Given the description of an element on the screen output the (x, y) to click on. 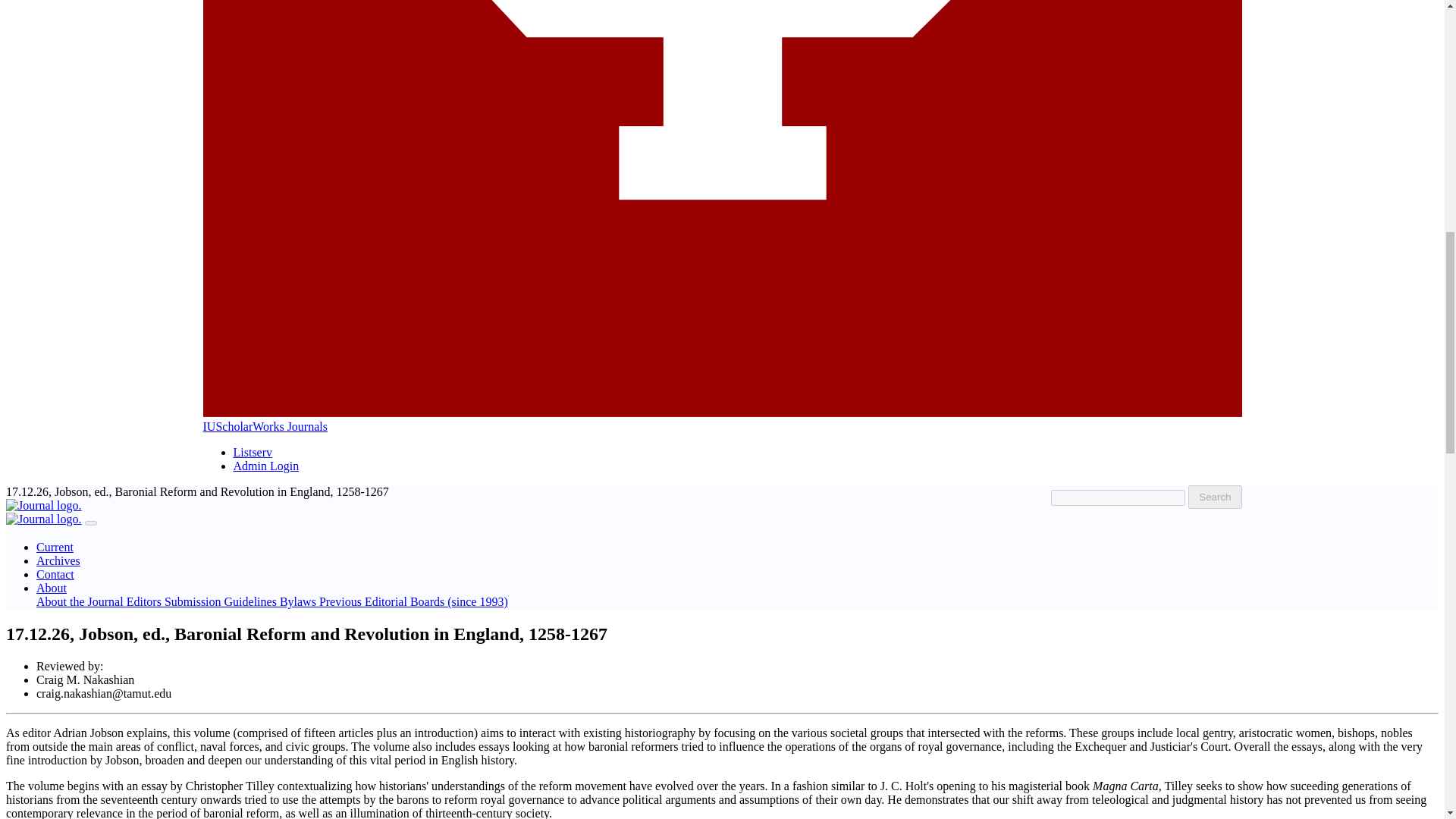
Current (55, 546)
About the Journal (81, 601)
Listserv (252, 451)
Search (1214, 496)
Editors (145, 601)
Contact (55, 574)
Bylaws (298, 601)
Submission Guidelines (221, 601)
IUScholarWorks Journals (265, 426)
Archives (58, 560)
About (51, 587)
Admin Login (265, 465)
